Given the description of an element on the screen output the (x, y) to click on. 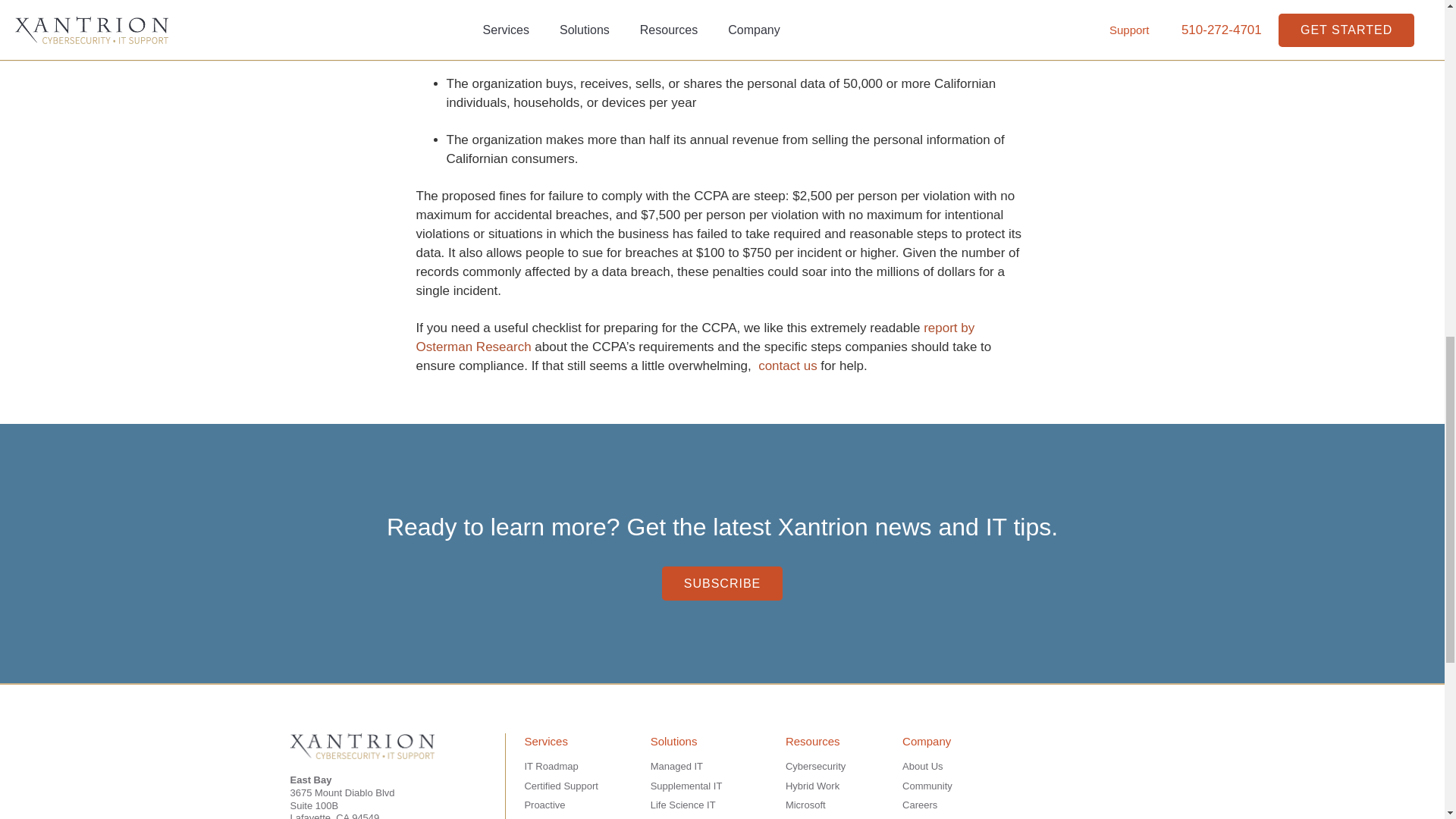
contact us (787, 365)
SUBSCRIBE (722, 583)
Back to top (1413, 30)
report by Osterman Research (694, 337)
